Given the description of an element on the screen output the (x, y) to click on. 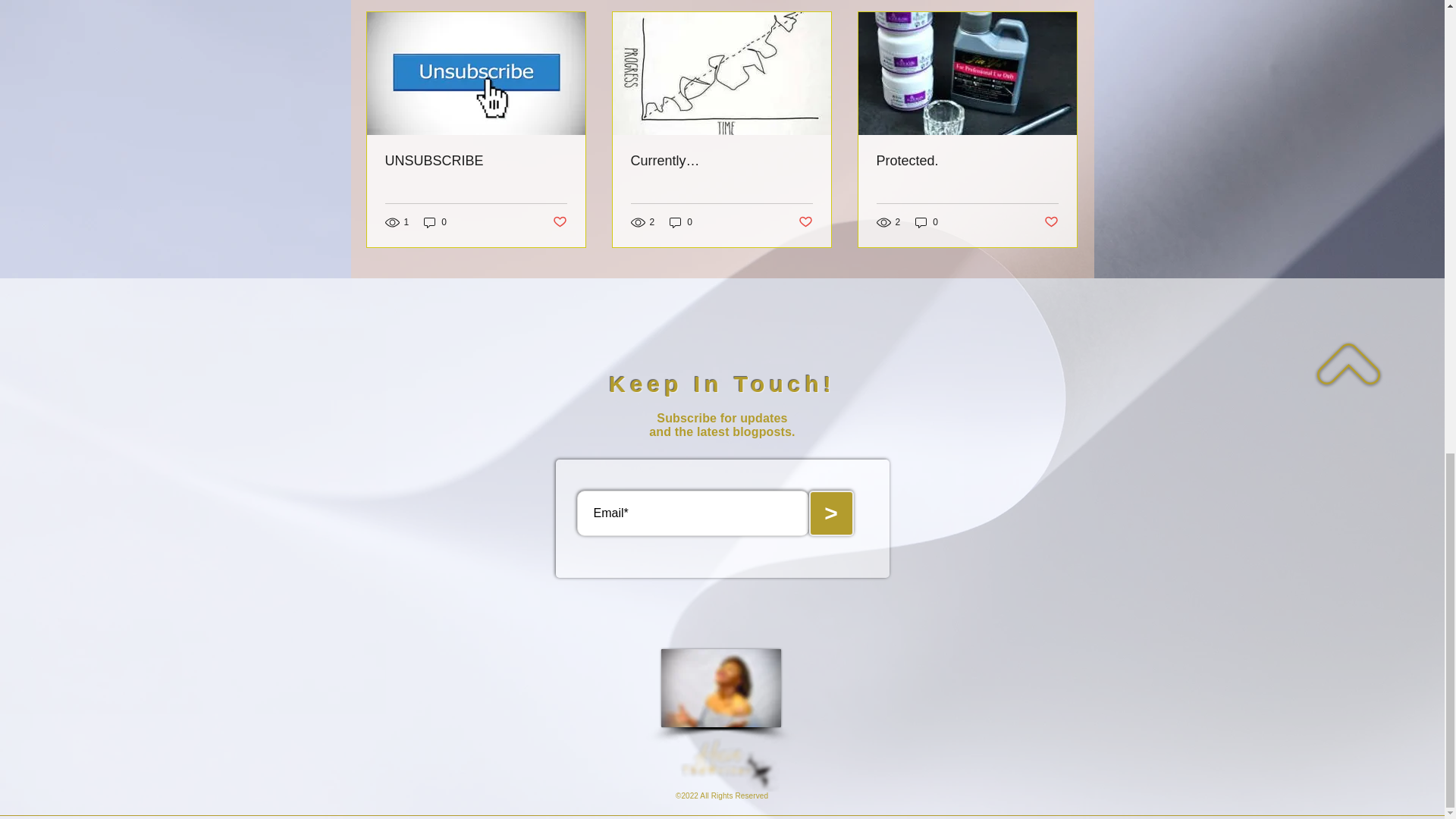
0 (926, 222)
Post not marked as liked (558, 221)
UNSUBSCRIBE (476, 160)
Post not marked as liked (804, 221)
Protected. (967, 160)
0 (435, 222)
0 (681, 222)
Post not marked as liked (1050, 221)
